Given the description of an element on the screen output the (x, y) to click on. 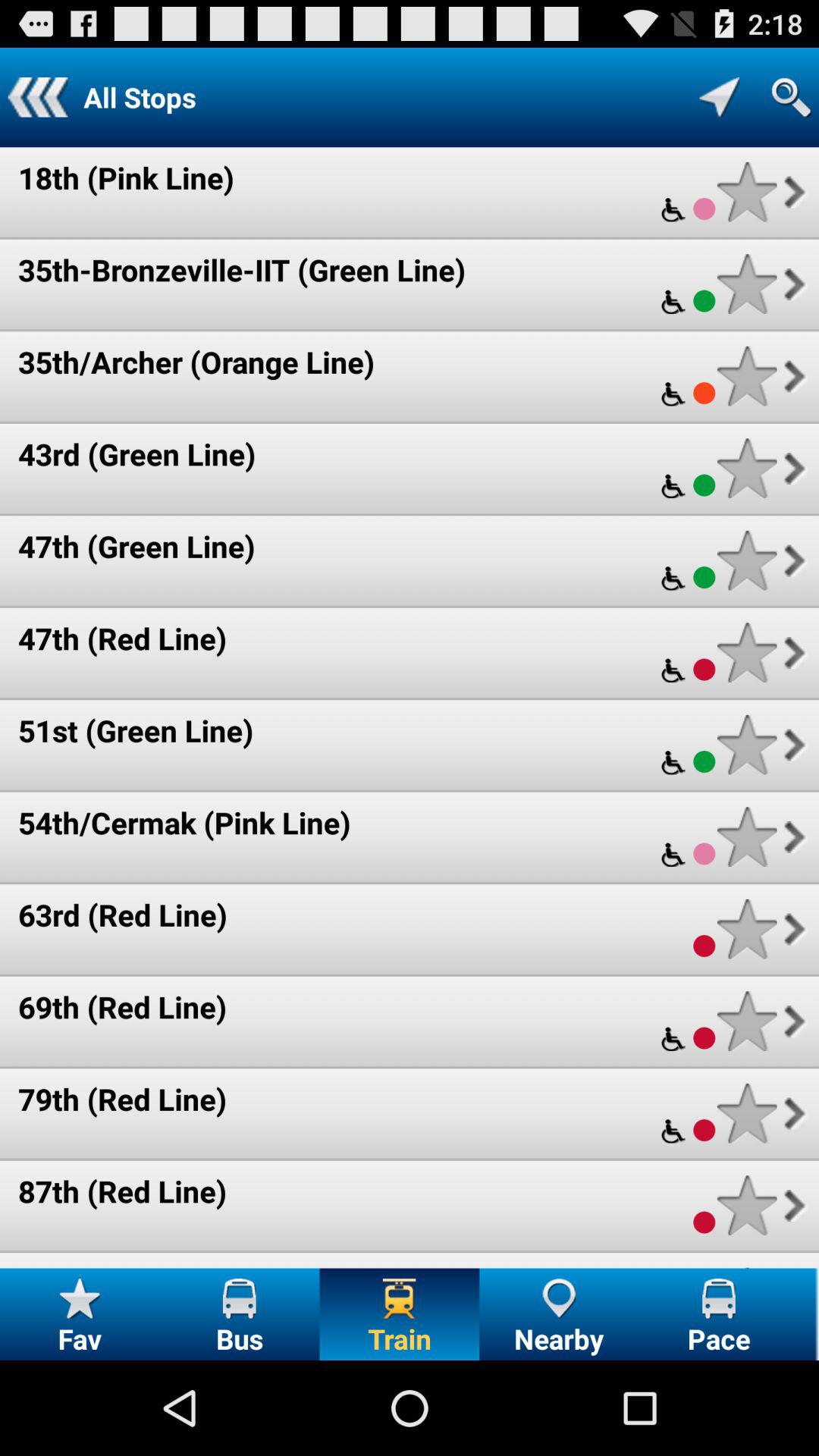
favorite item (746, 468)
